Given the description of an element on the screen output the (x, y) to click on. 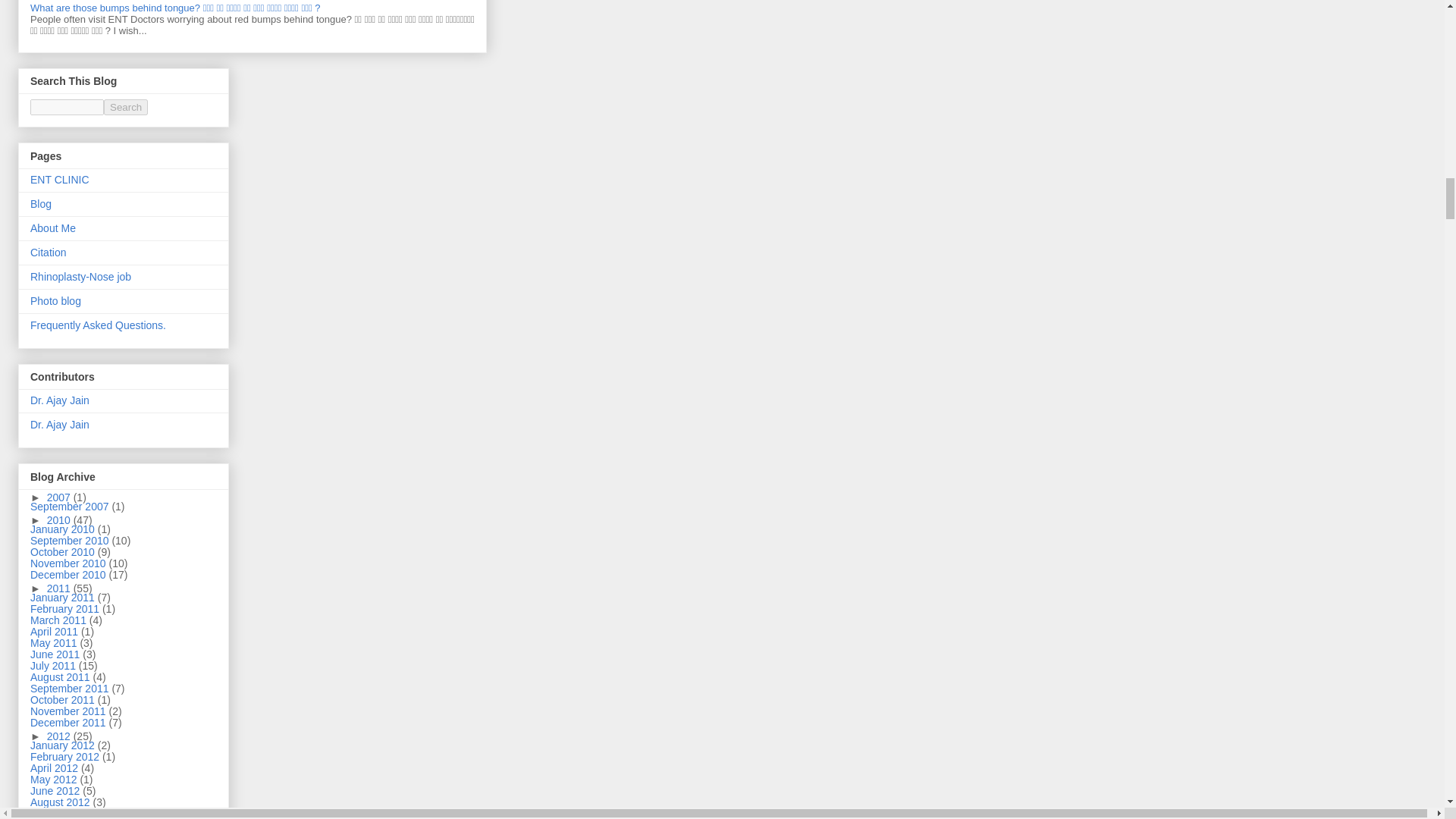
About Me (52, 227)
January 2010 (63, 529)
Dr. Ajay Jain (59, 399)
Search (125, 107)
ENT CLINIC (59, 179)
search (66, 107)
Search (125, 107)
search (125, 107)
Citation (47, 252)
2010 (60, 520)
Blog (40, 203)
2007 (60, 497)
Search (125, 107)
Rhinoplasty-Nose job (80, 276)
Frequently Asked Questions. (97, 325)
